Given the description of an element on the screen output the (x, y) to click on. 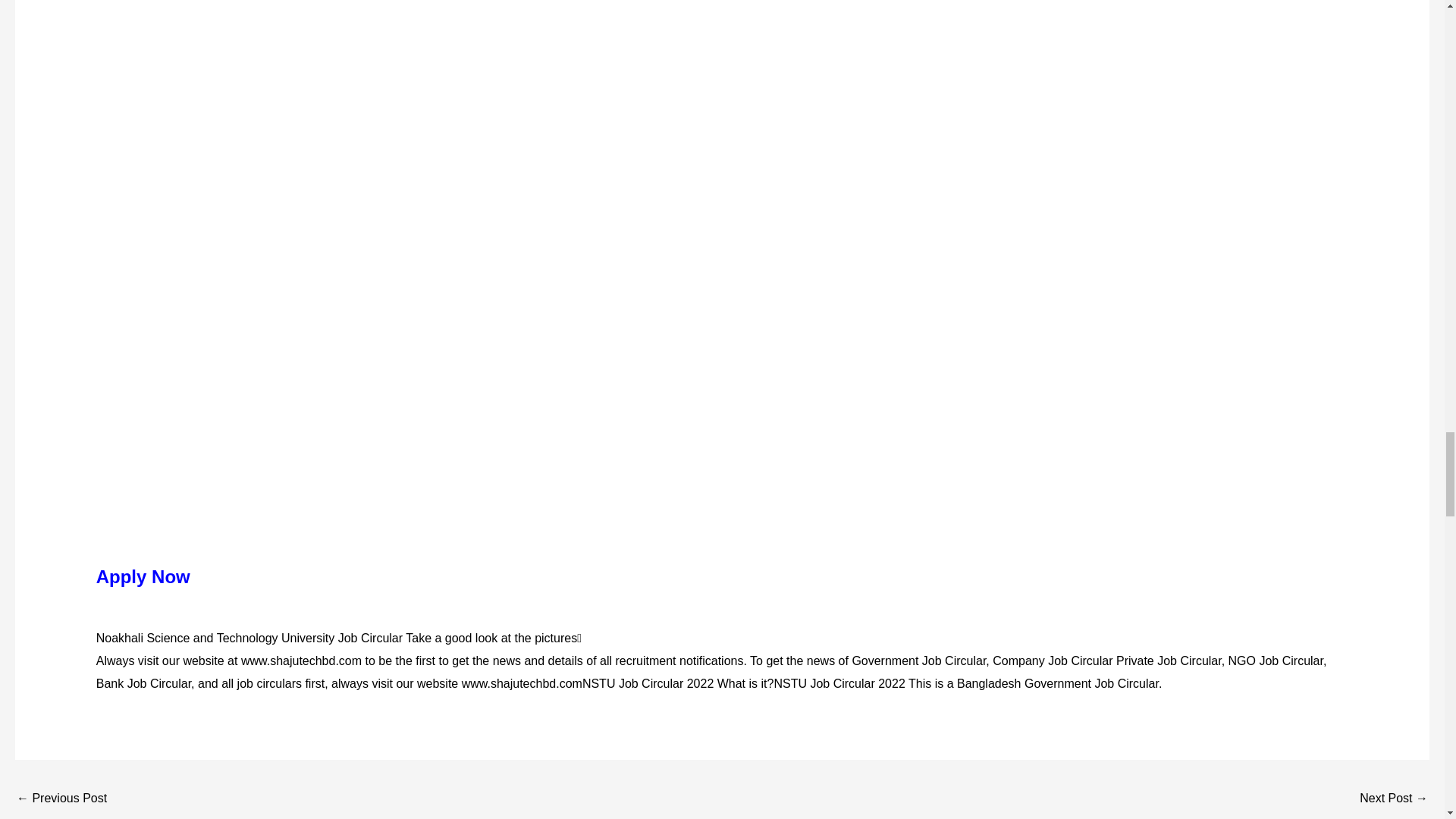
Immigration Bangladesh Police SBDHAKA Job Circular 2022 (1393, 799)
Apply Now (143, 576)
